Given the description of an element on the screen output the (x, y) to click on. 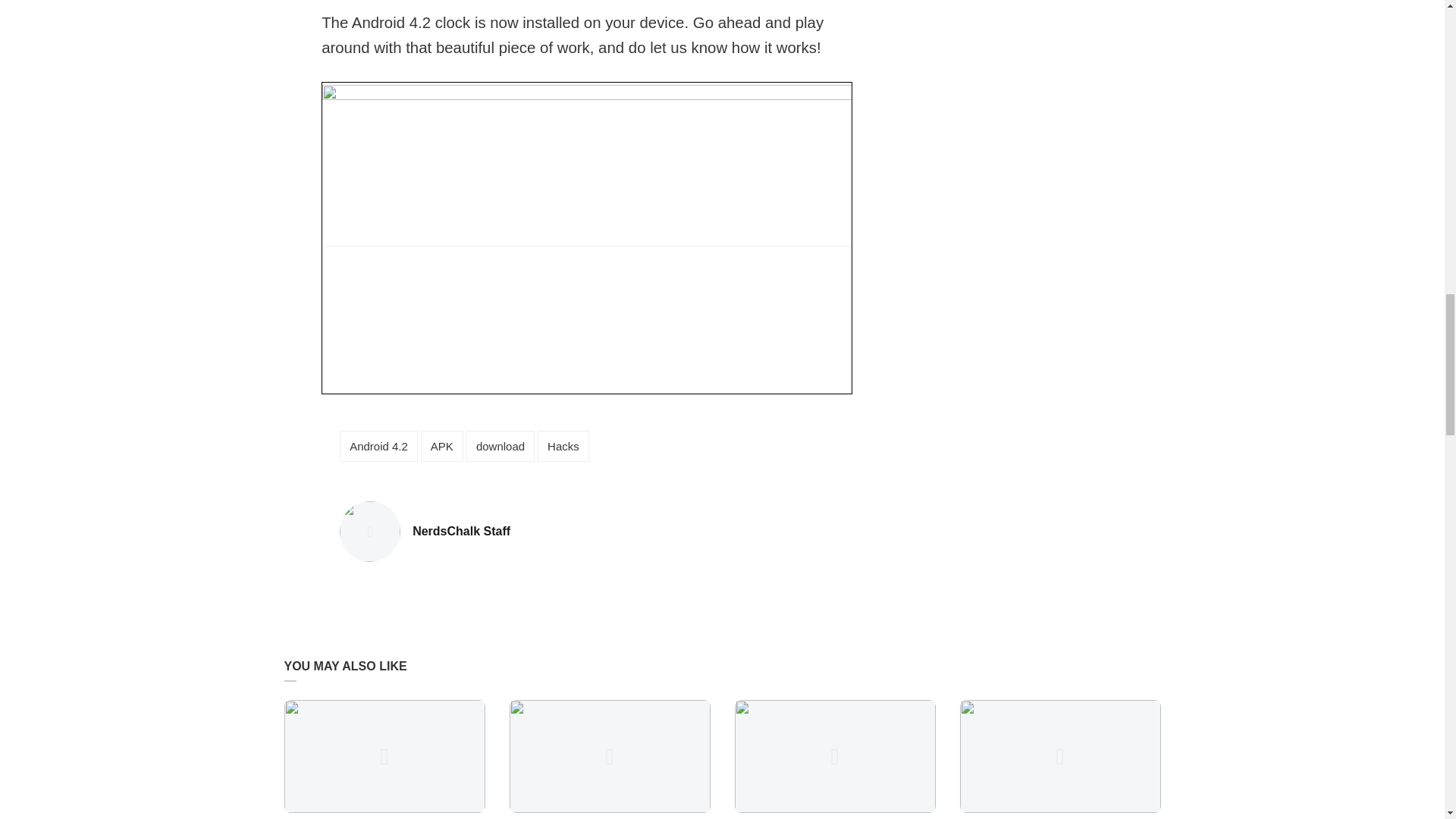
APK (441, 445)
Hacks (563, 445)
Android 4.2 (378, 445)
download (461, 531)
